Given the description of an element on the screen output the (x, y) to click on. 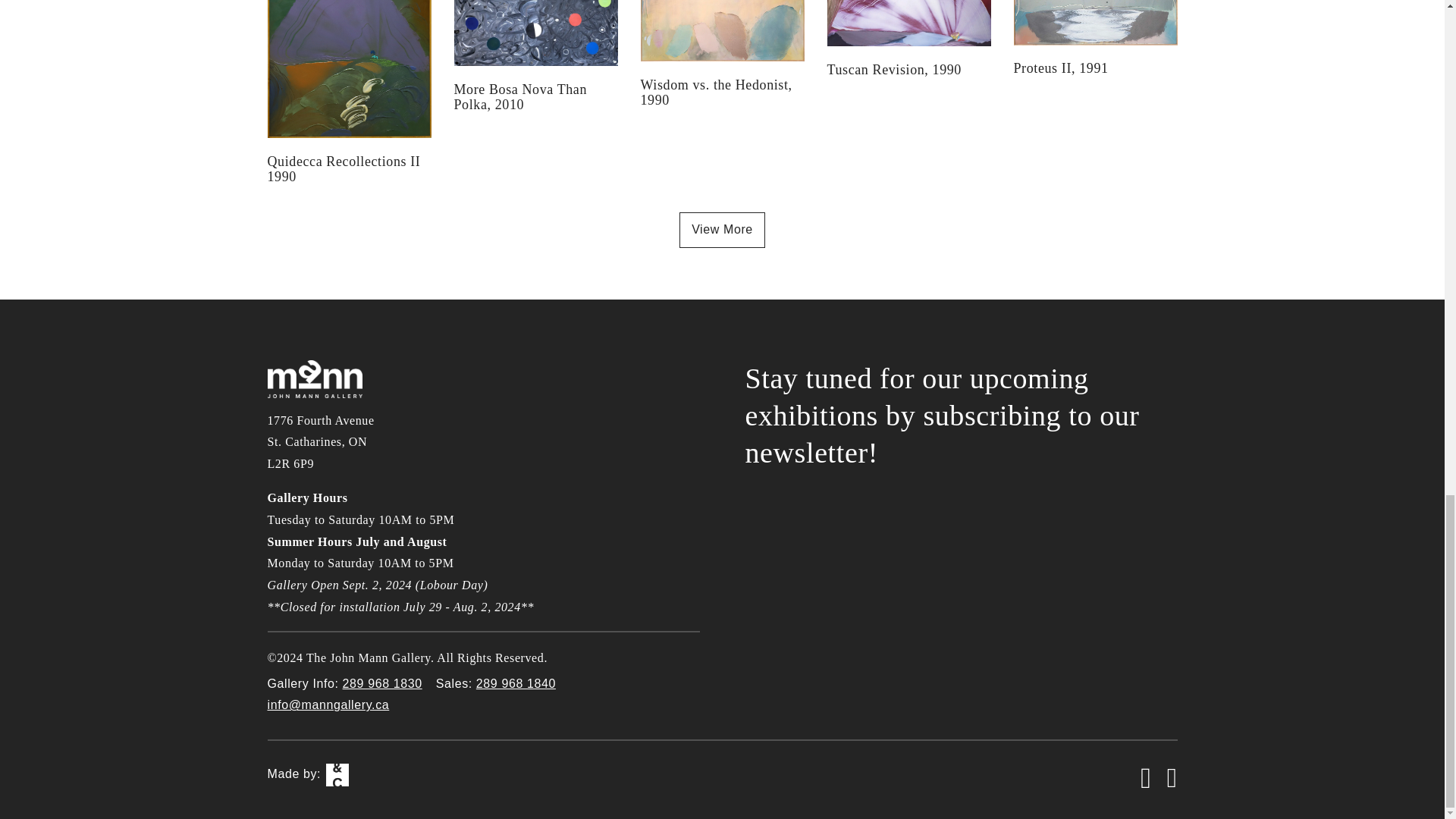
Form 0 (960, 545)
